Given the description of an element on the screen output the (x, y) to click on. 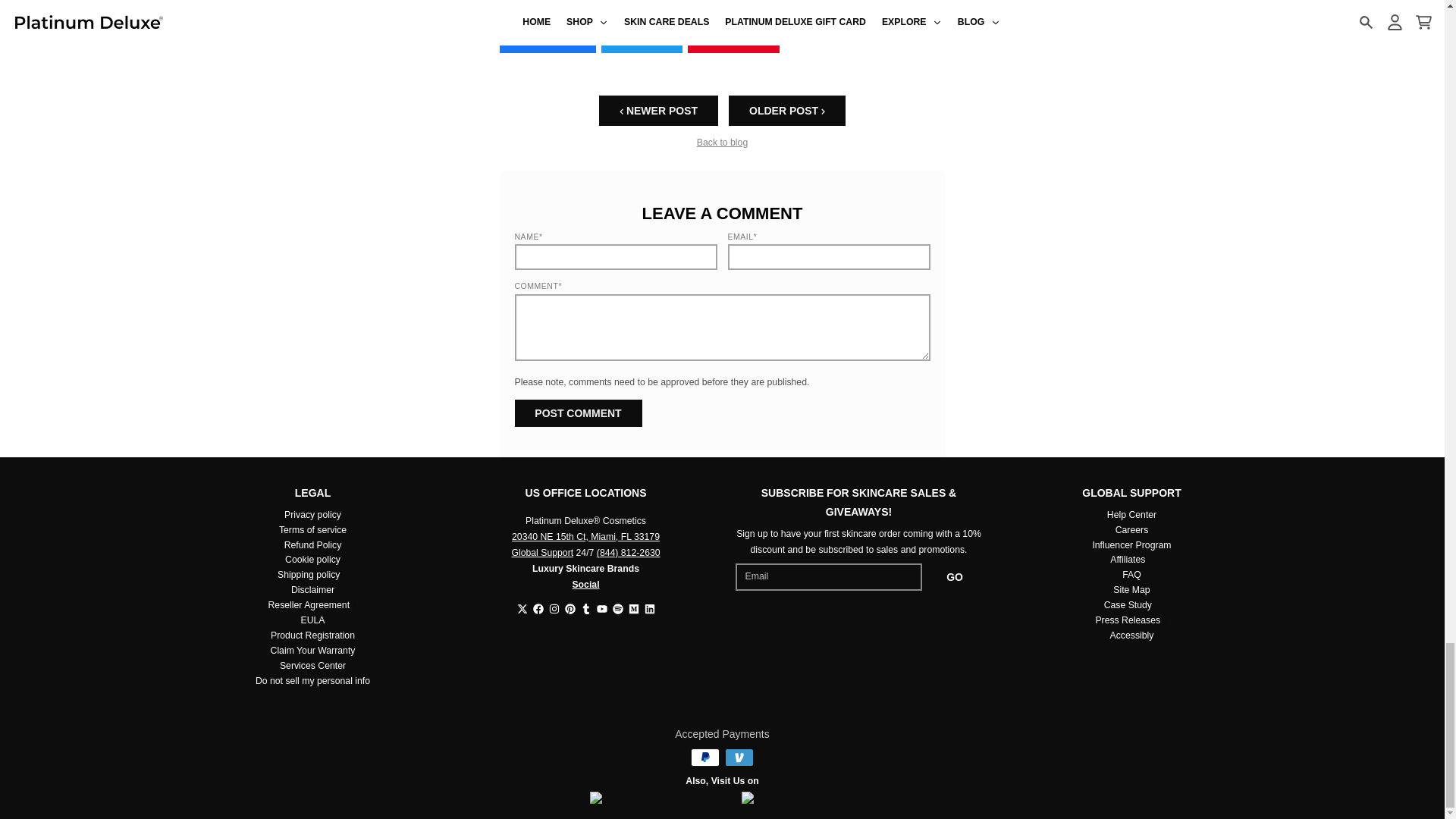
LinkedIn - Platinum Deluxe Cosmetics (650, 608)
Post comment (577, 412)
Facebook - Platinum Deluxe Cosmetics (537, 608)
Instagram - Platinum Deluxe Cosmetics (553, 608)
Spotify - Platinum Deluxe Cosmetics (617, 608)
Medium - Platinum Deluxe Cosmetics (633, 608)
YouTube - Platinum Deluxe Cosmetics (601, 608)
Twitter - Platinum Deluxe Cosmetics (521, 608)
Tumblr - Platinum Deluxe Cosmetics (585, 608)
Pinterest - Platinum Deluxe Cosmetics (569, 608)
